Given the description of an element on the screen output the (x, y) to click on. 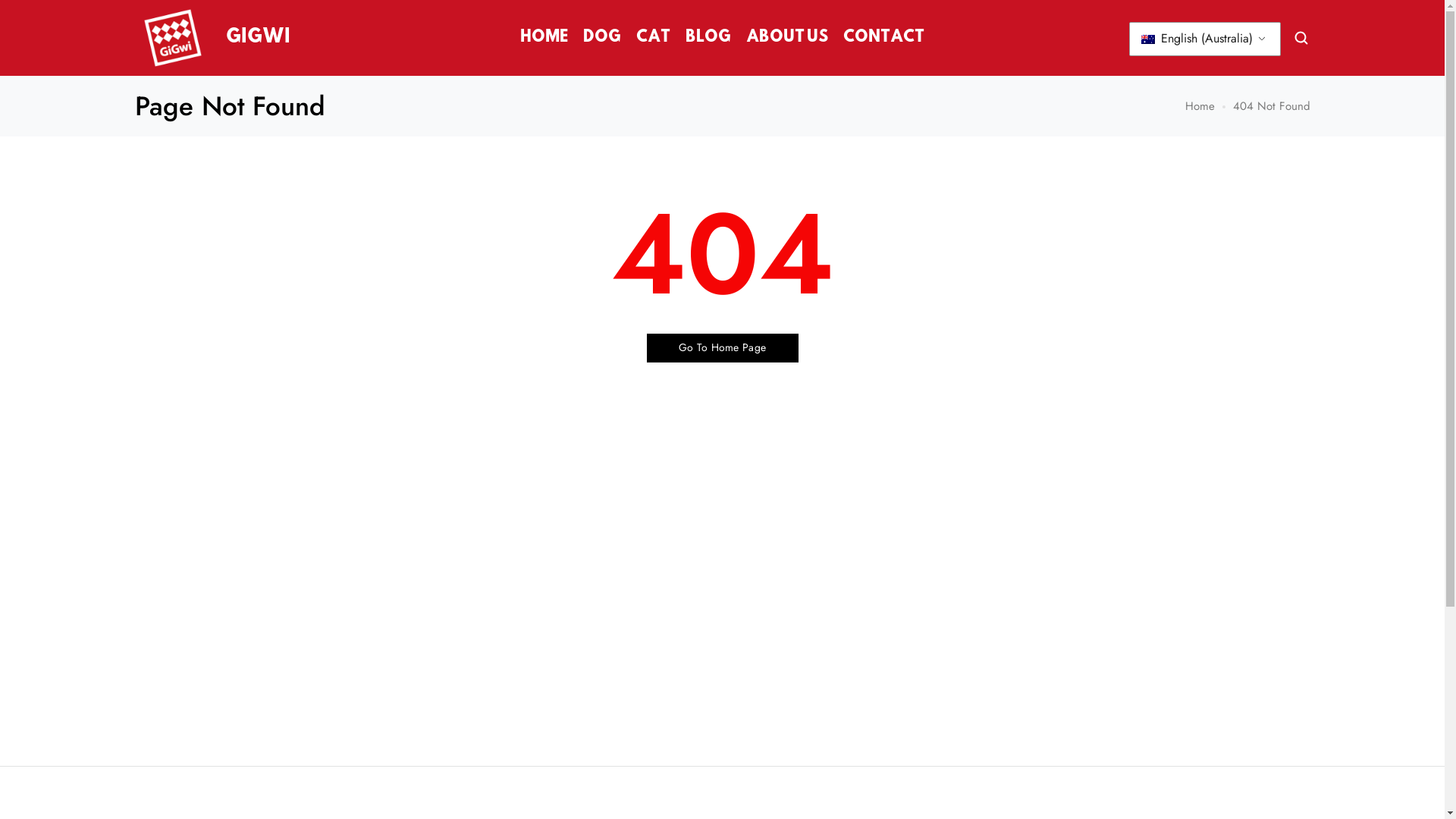
Home Element type: text (1199, 105)
DOG Element type: text (602, 37)
ABOUT US Element type: text (787, 37)
English (Australia) Element type: hover (1147, 38)
CONTACT Element type: text (883, 37)
GIGWI Element type: text (212, 37)
Go To Home Page Element type: text (721, 347)
English (Australia) Element type: text (1204, 38)
CAT Element type: text (653, 37)
HOME Element type: text (543, 37)
BLOG Element type: text (708, 37)
